Given the description of an element on the screen output the (x, y) to click on. 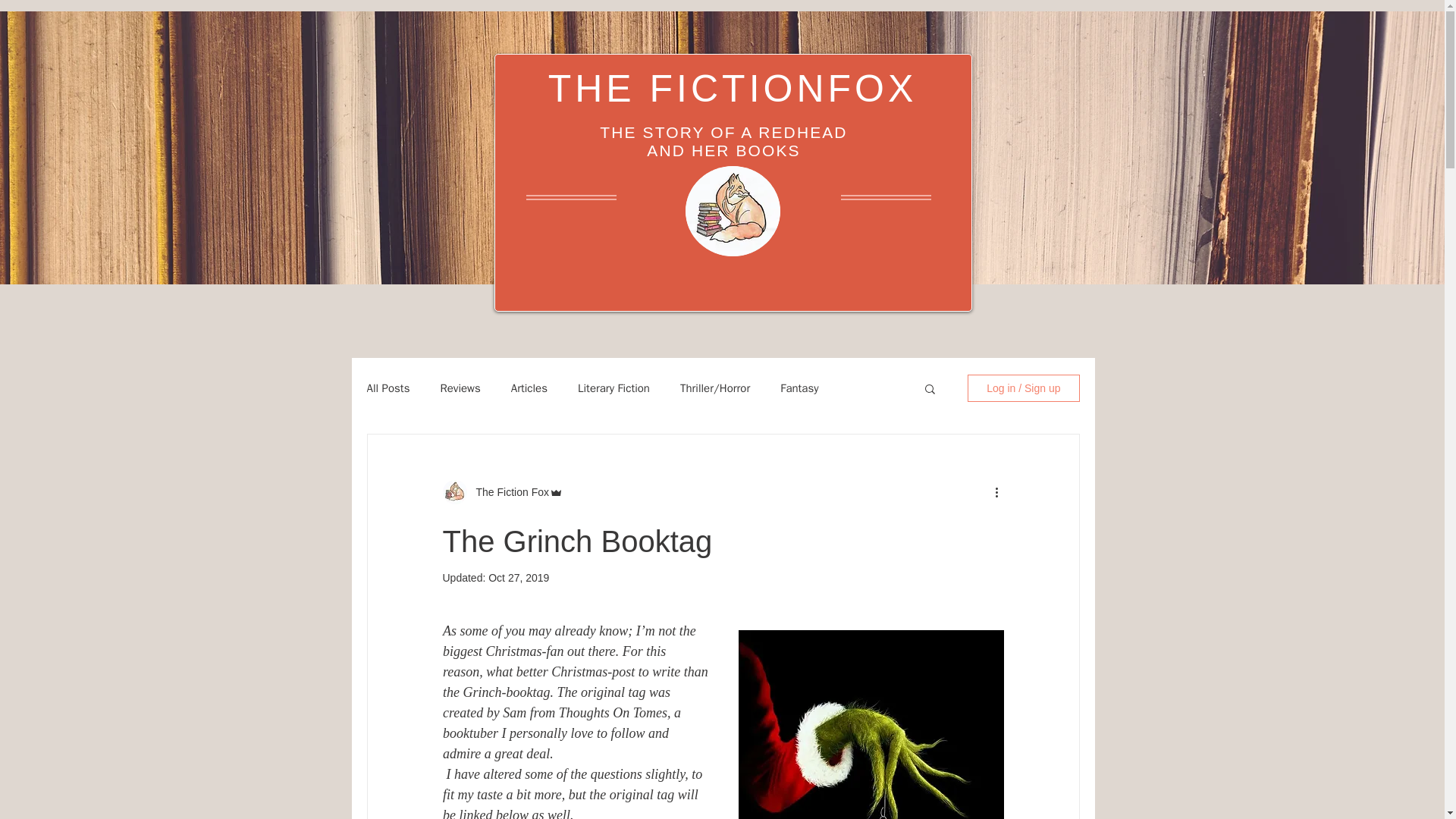
Literary Fiction (613, 387)
Oct 27, 2019 (517, 577)
The Fiction Fox (507, 491)
THE STORY OF A REDHEAD AND HER BOOKS (723, 140)
THE FICTIONFOX (732, 88)
Articles (529, 387)
Reviews (459, 387)
All Posts (388, 387)
Fantasy (799, 387)
